Given the description of an element on the screen output the (x, y) to click on. 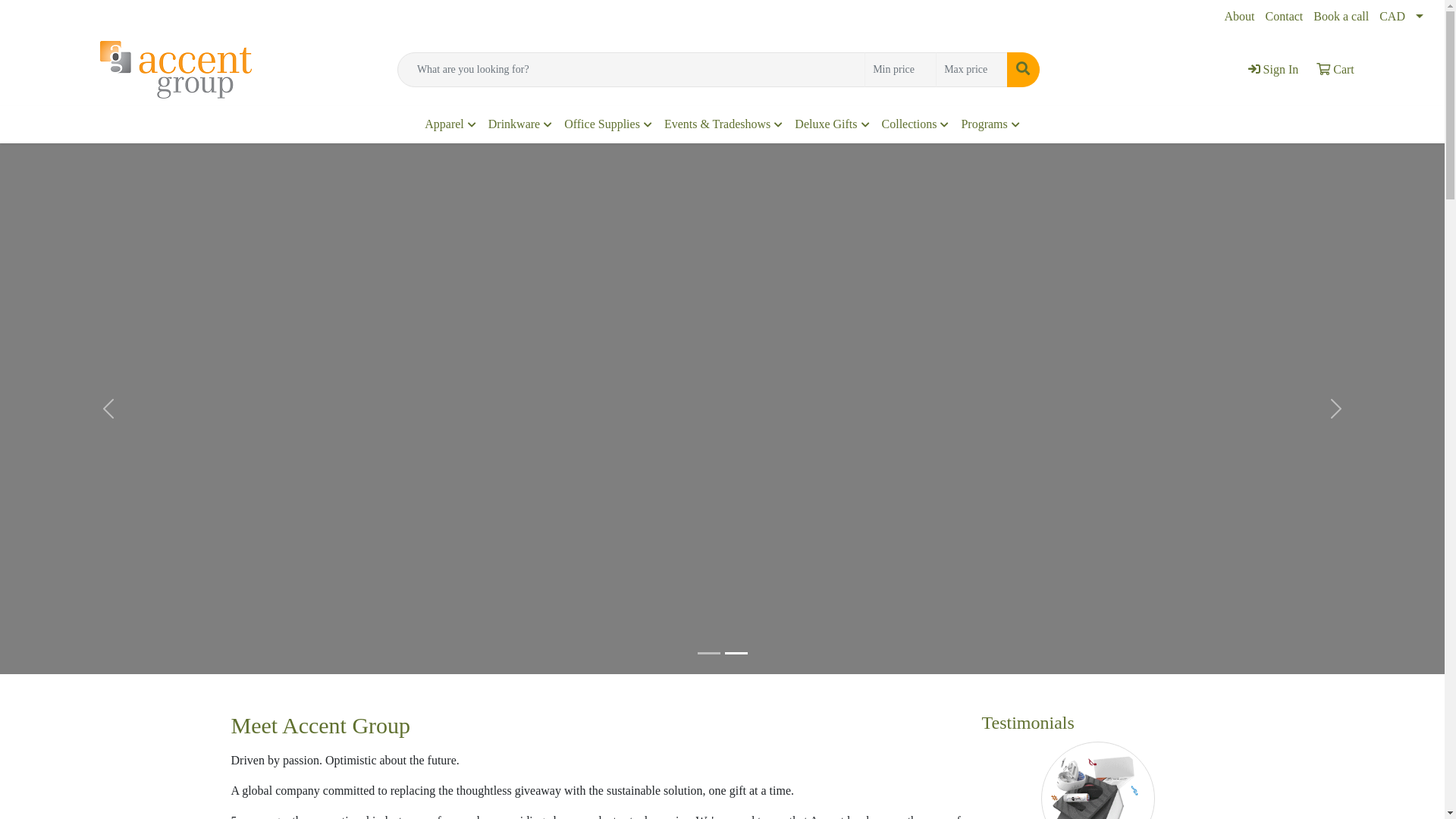
Office Supplies Element type: text (608, 124)
Next Element type: text (1335, 408)
Sign In Element type: text (1273, 69)
Events & Tradeshows Element type: text (723, 124)
Previous Element type: text (108, 408)
Contact Element type: text (1284, 16)
Apparel Element type: text (450, 124)
Book a call Element type: text (1341, 16)
CAD Element type: text (1404, 16)
Collections Element type: text (915, 124)
Drinkware Element type: text (520, 124)
About Element type: text (1239, 16)
Cart Element type: text (1335, 69)
Programs Element type: text (989, 124)
Deluxe Gifts Element type: text (831, 124)
